Given the description of an element on the screen output the (x, y) to click on. 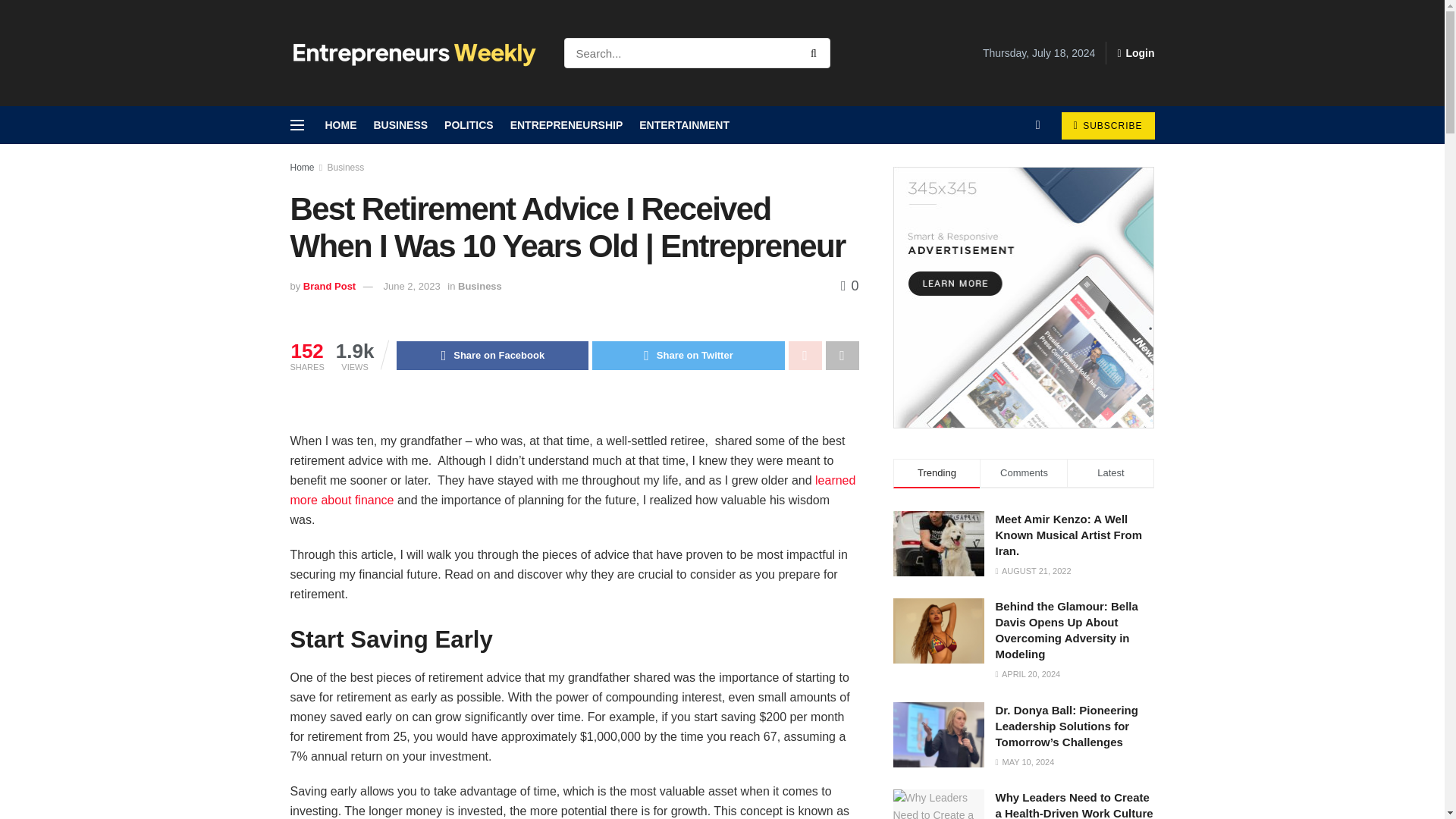
Business (480, 285)
Why Leaders Need to Create a Health-Driven Work Culture (938, 804)
Share on Twitter (688, 355)
June 2, 2023 (410, 285)
Login (1135, 53)
0 (850, 285)
Meet Amir Kenzo: A Well Known Musical Artist From Iran. (938, 543)
ENTERTAINMENT (684, 125)
Share on Facebook (492, 355)
SUBSCRIBE (1107, 125)
learned more about finance (572, 490)
Business (346, 167)
POLITICS (468, 125)
Home (301, 167)
